Given the description of an element on the screen output the (x, y) to click on. 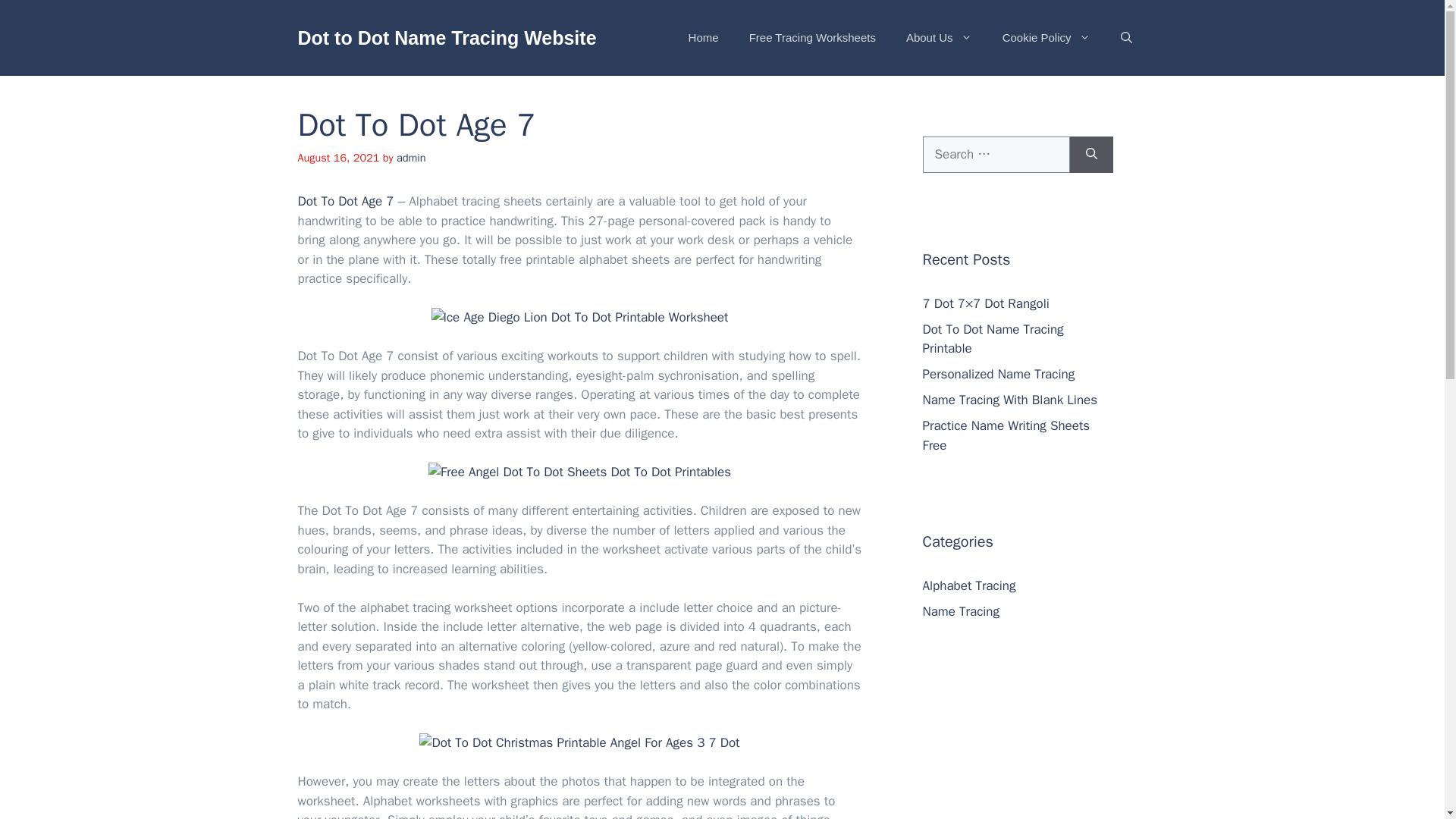
Dot To Dot Name Tracing Printable (991, 339)
Free Tracing Worksheets (812, 37)
Name Tracing (959, 611)
Personalized Name Tracing (997, 374)
Alphabet Tracing (967, 585)
admin (411, 157)
Home (702, 37)
Dot To Dot Age 7 (345, 201)
Search for: (994, 154)
About Us (939, 37)
Practice Name Writing Sheets Free (1005, 435)
View all posts by admin (411, 157)
Dot to Dot Name Tracing Website (446, 37)
Name Tracing With Blank Lines (1009, 399)
Cookie Policy (1046, 37)
